Given the description of an element on the screen output the (x, y) to click on. 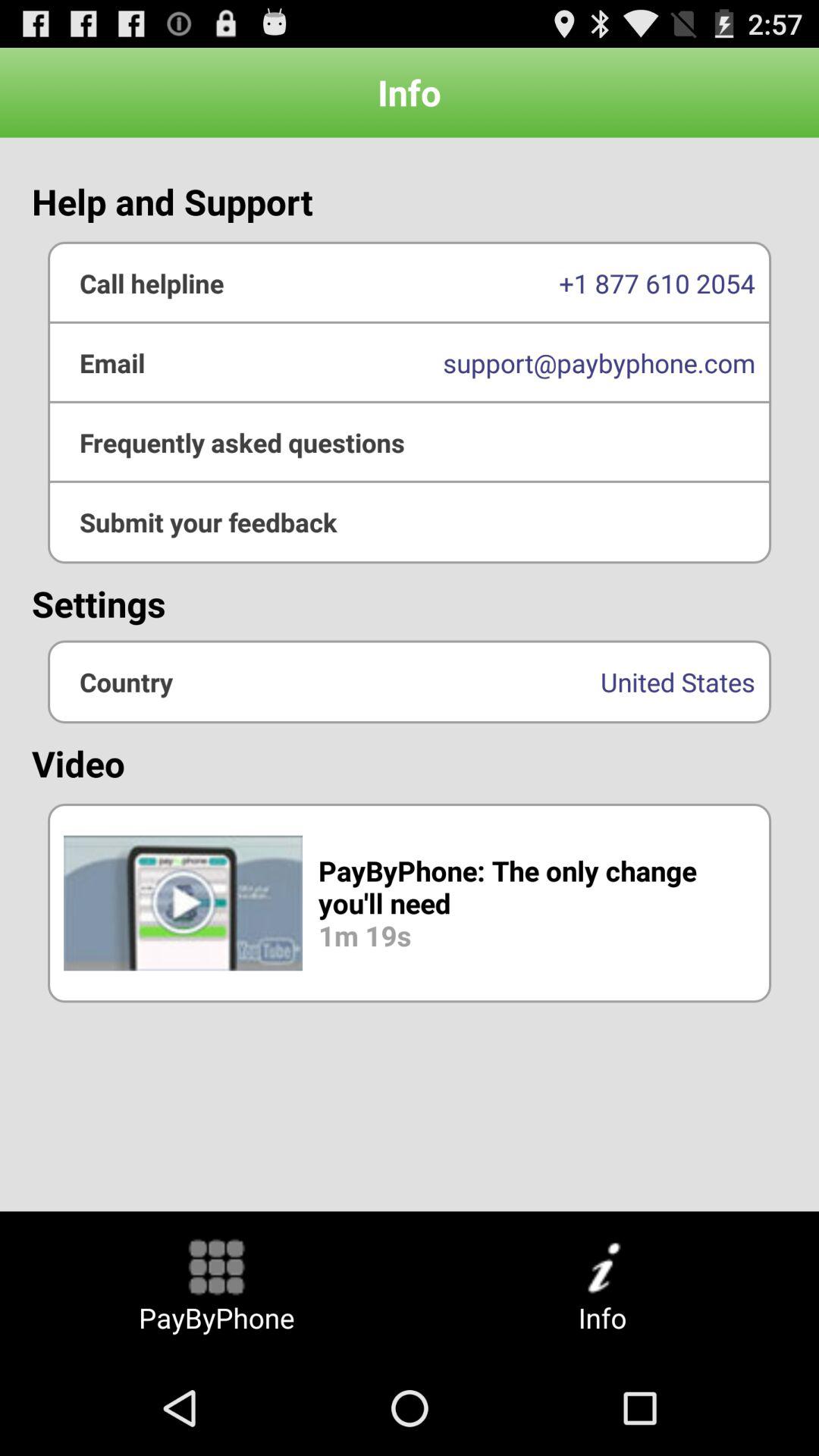
give feedback about the app (409, 521)
